Given the description of an element on the screen output the (x, y) to click on. 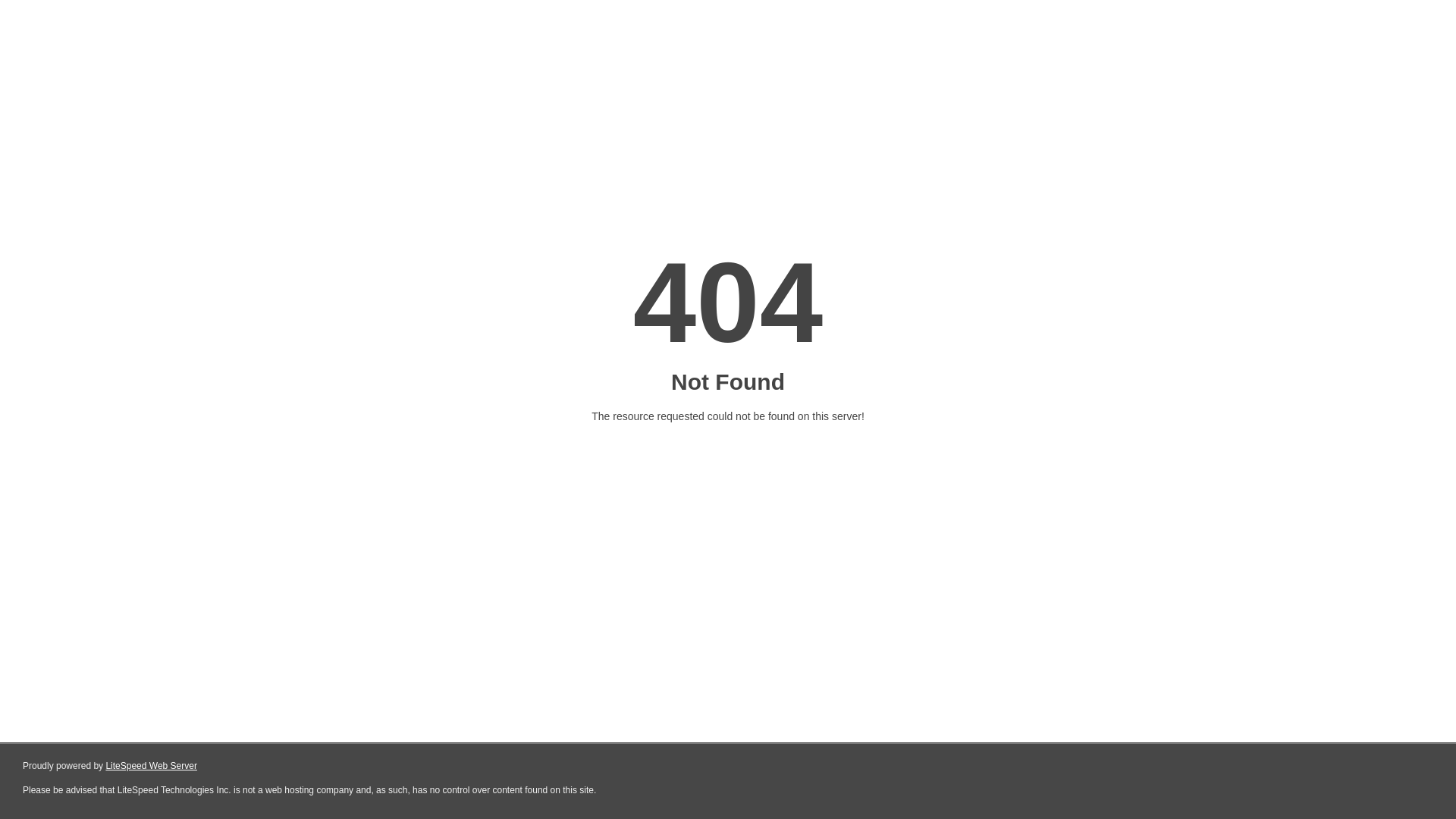
LiteSpeed Web Server Element type: text (151, 765)
